Given the description of an element on the screen output the (x, y) to click on. 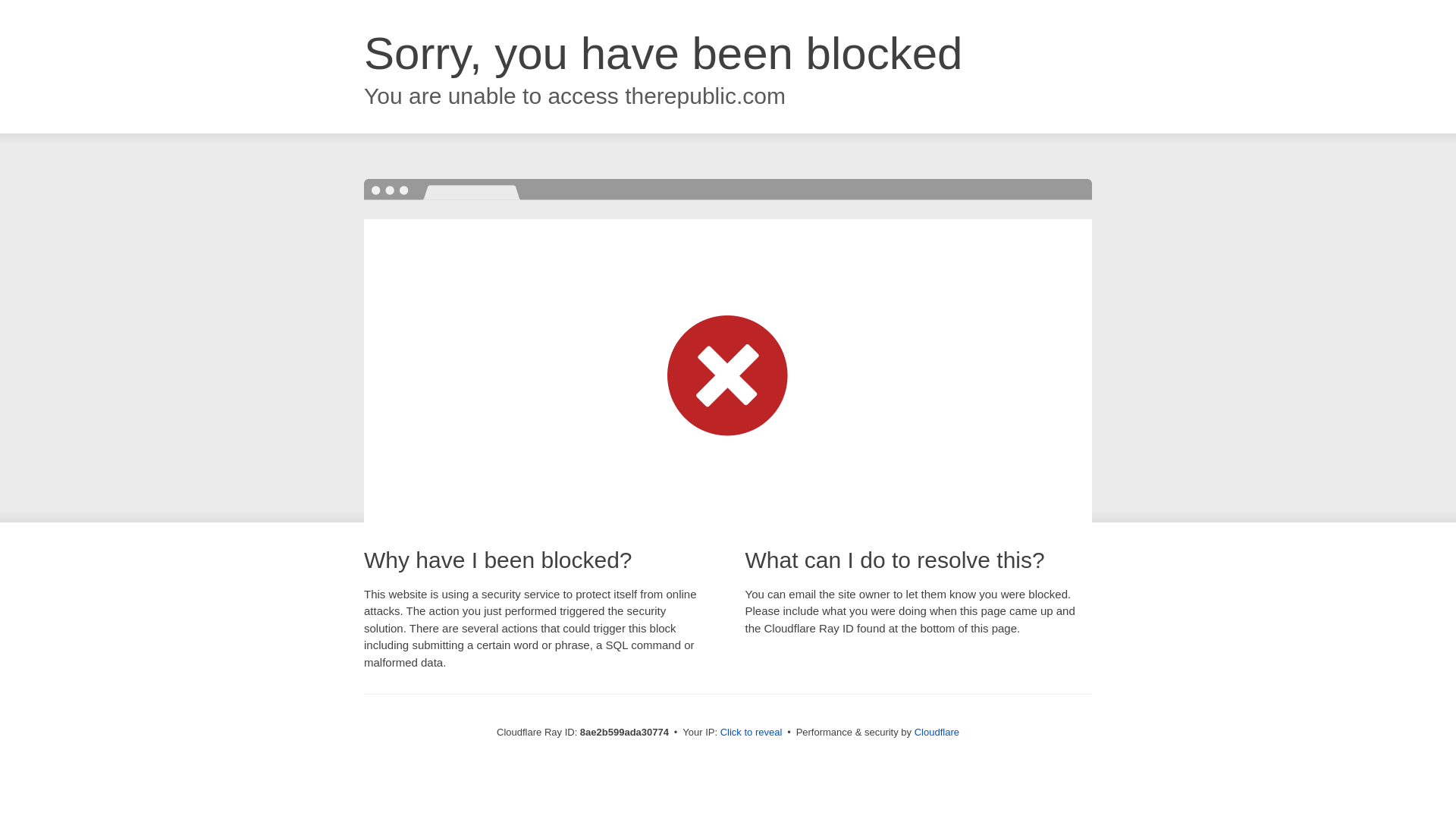
Cloudflare (936, 731)
Click to reveal (751, 732)
